Given the description of an element on the screen output the (x, y) to click on. 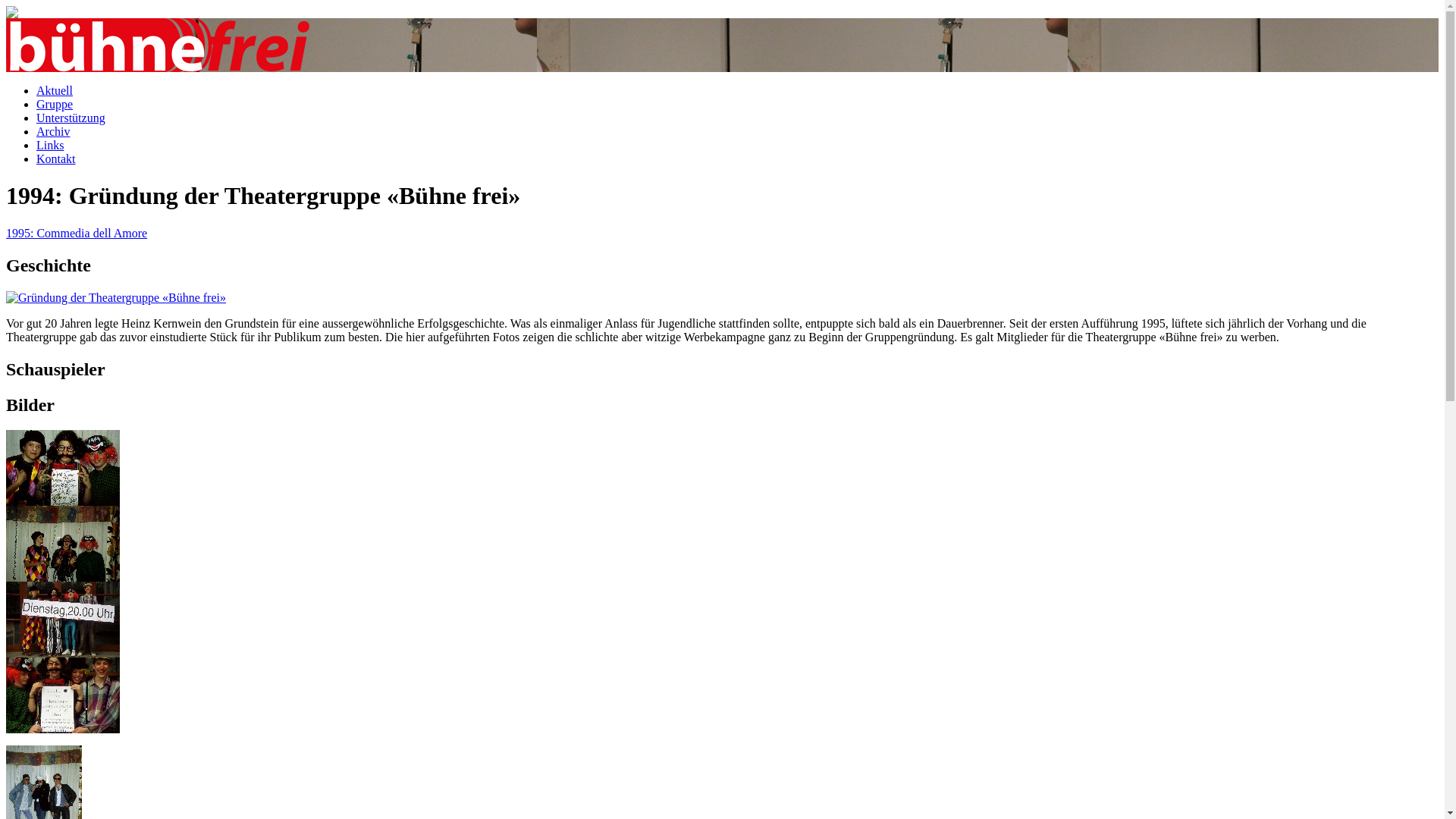
Gruppe Element type: text (54, 103)
1995: Commedia dell Amore Element type: text (76, 232)
Aktuell Element type: text (54, 90)
Kontakt Element type: text (55, 158)
Archiv Element type: text (52, 131)
Links Element type: text (49, 144)
